Given the description of an element on the screen output the (x, y) to click on. 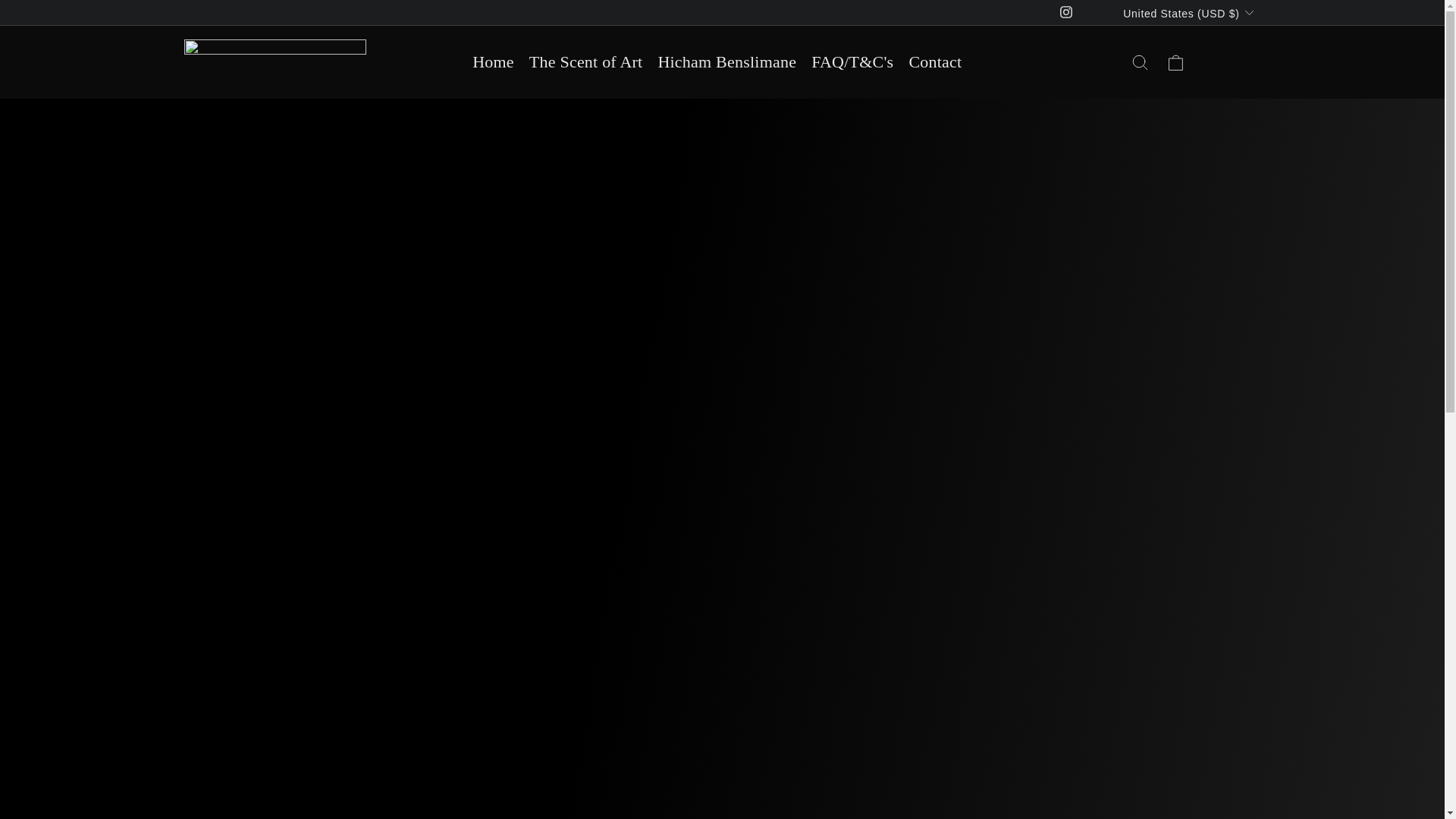
instagram (1065, 11)
The Scent of Art on Instagram (1066, 13)
